Given the description of an element on the screen output the (x, y) to click on. 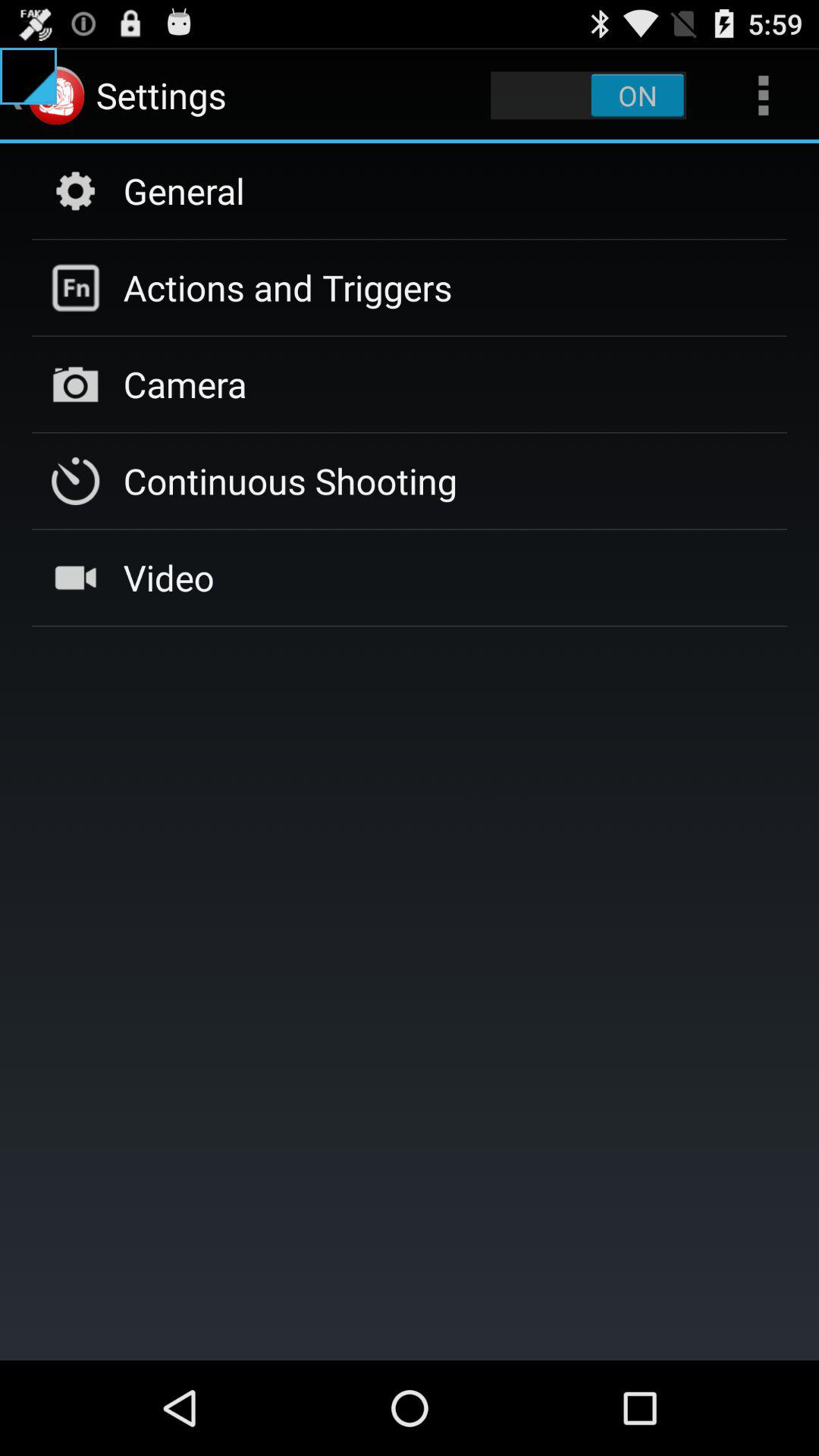
turn off settings (588, 95)
